Given the description of an element on the screen output the (x, y) to click on. 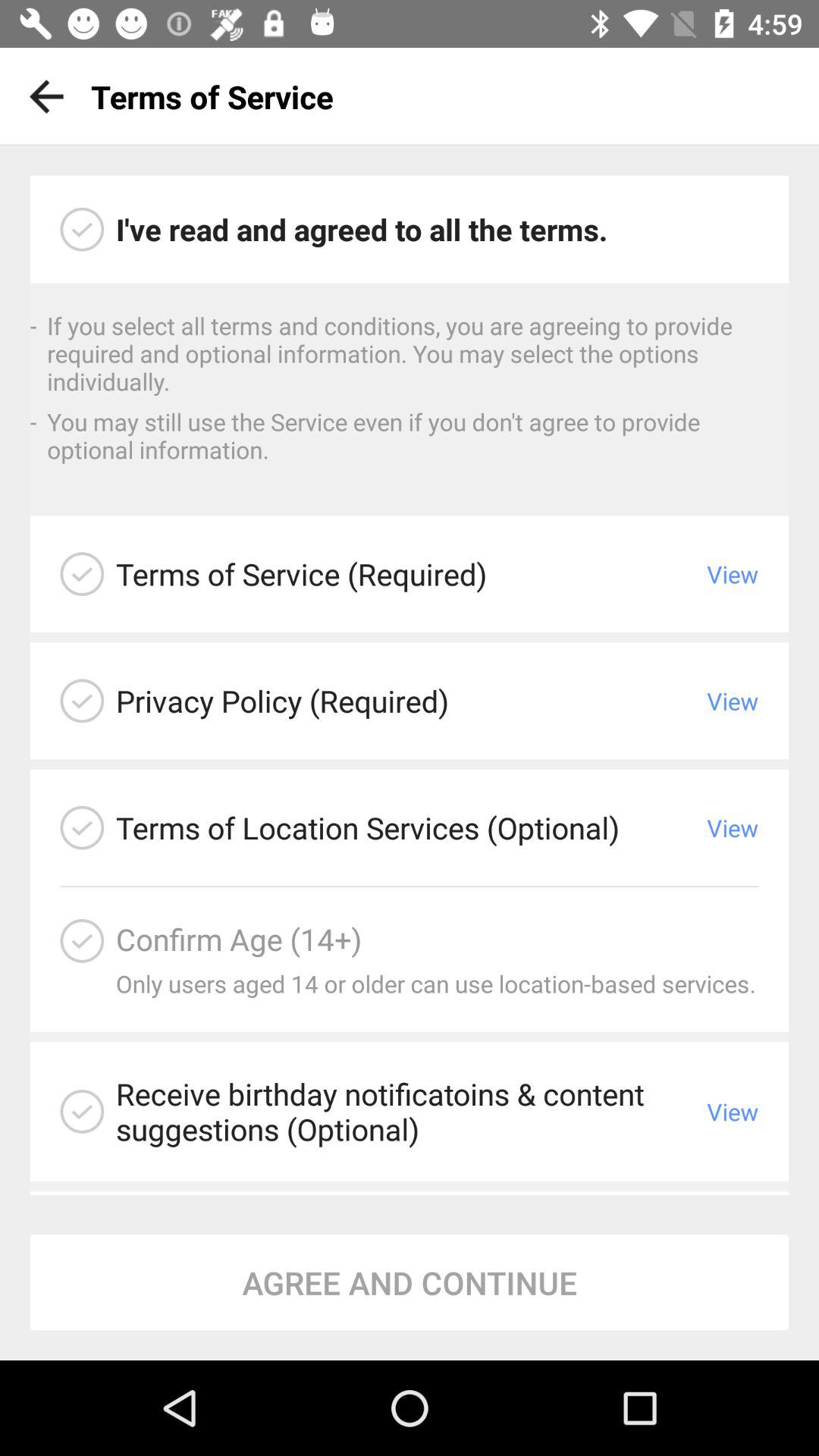
review our privacy policy (82, 700)
